Given the description of an element on the screen output the (x, y) to click on. 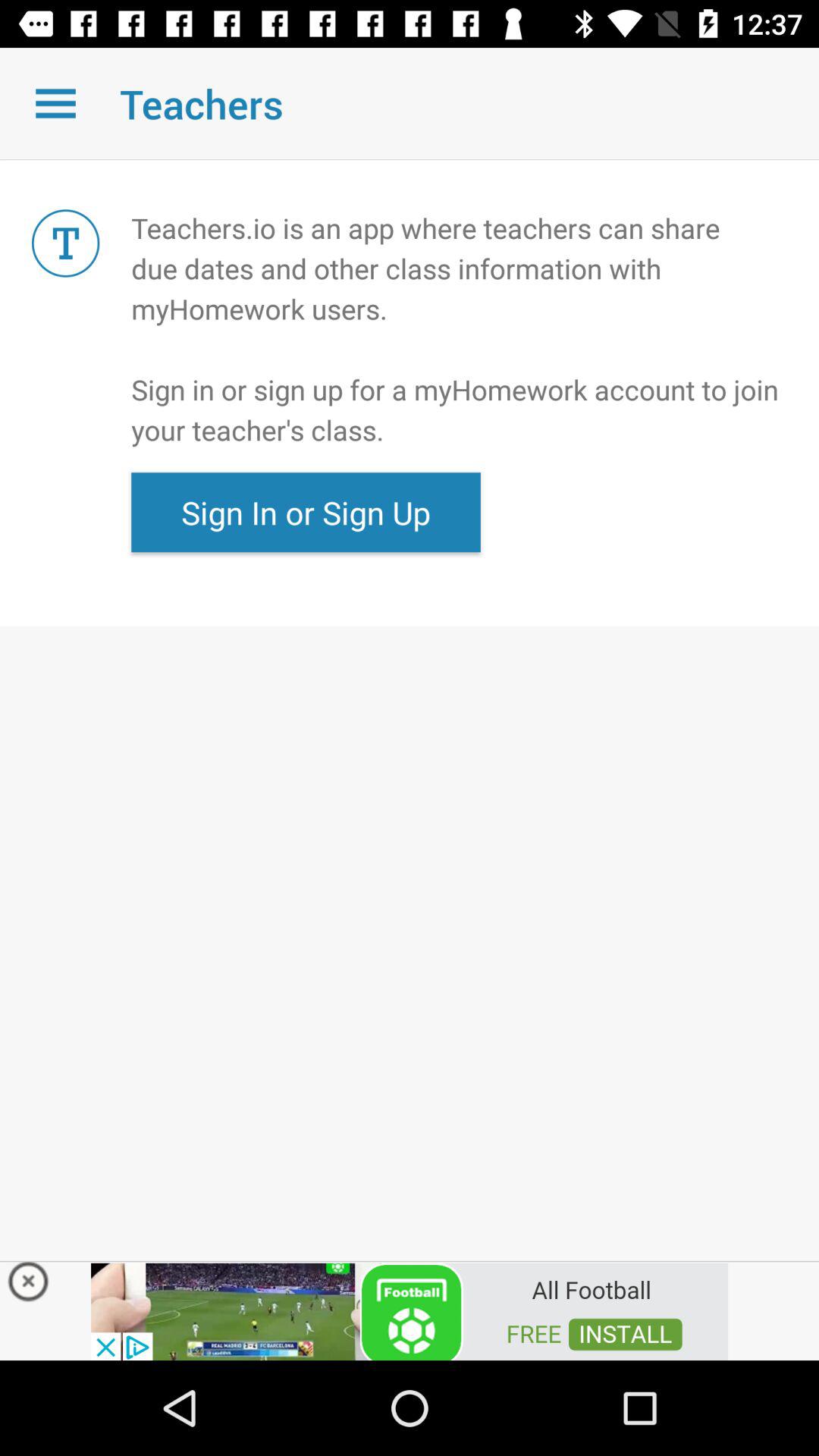
open settings (55, 103)
